Given the description of an element on the screen output the (x, y) to click on. 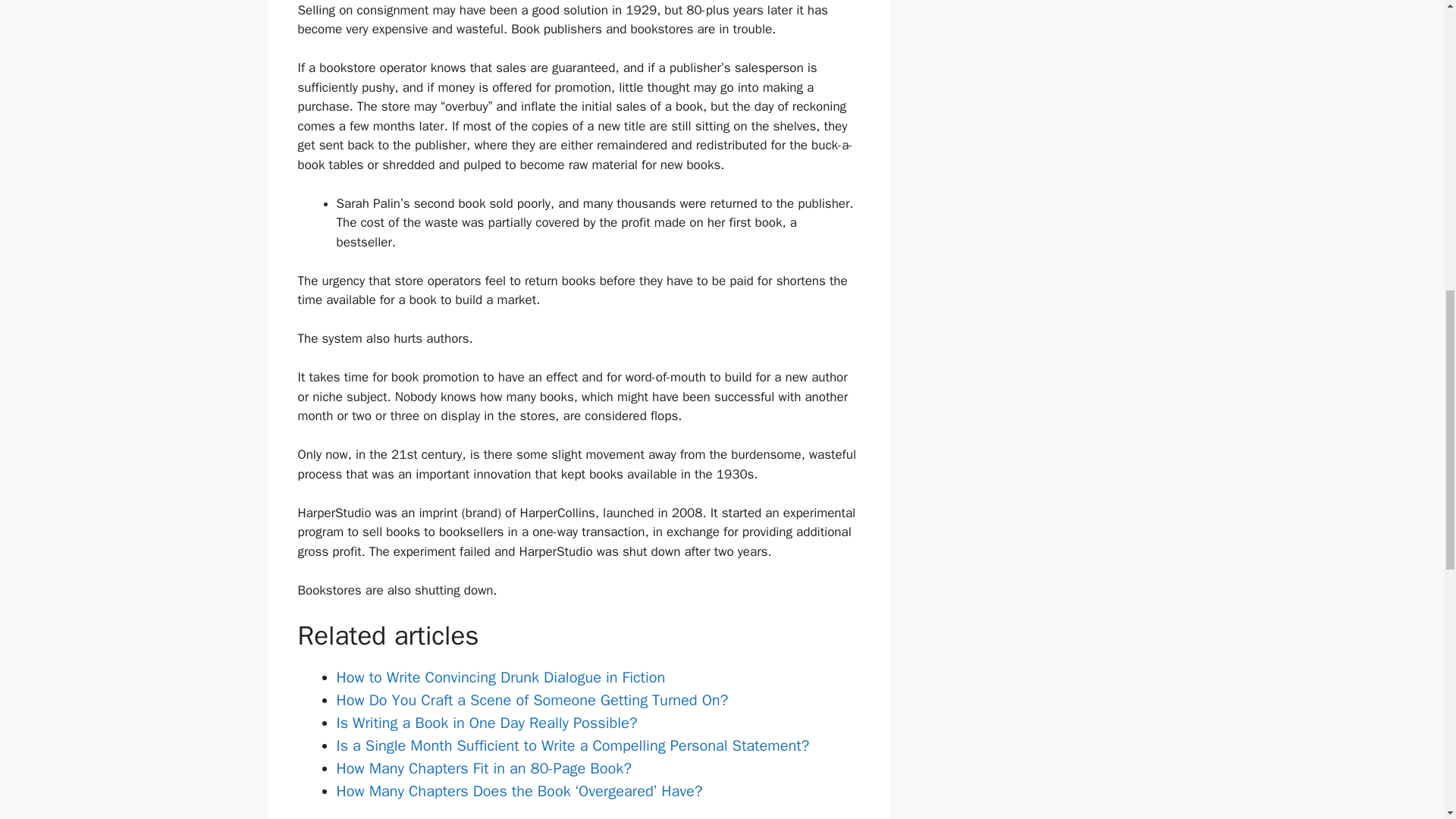
How Do You Craft a Scene of Someone Getting Turned On? (532, 700)
Is Writing a Book in One Day Really Possible? (486, 722)
How Many Chapters Fit in an 80-Page Book? (483, 768)
How to Write Convincing Drunk Dialogue in Fiction (500, 677)
